Given the description of an element on the screen output the (x, y) to click on. 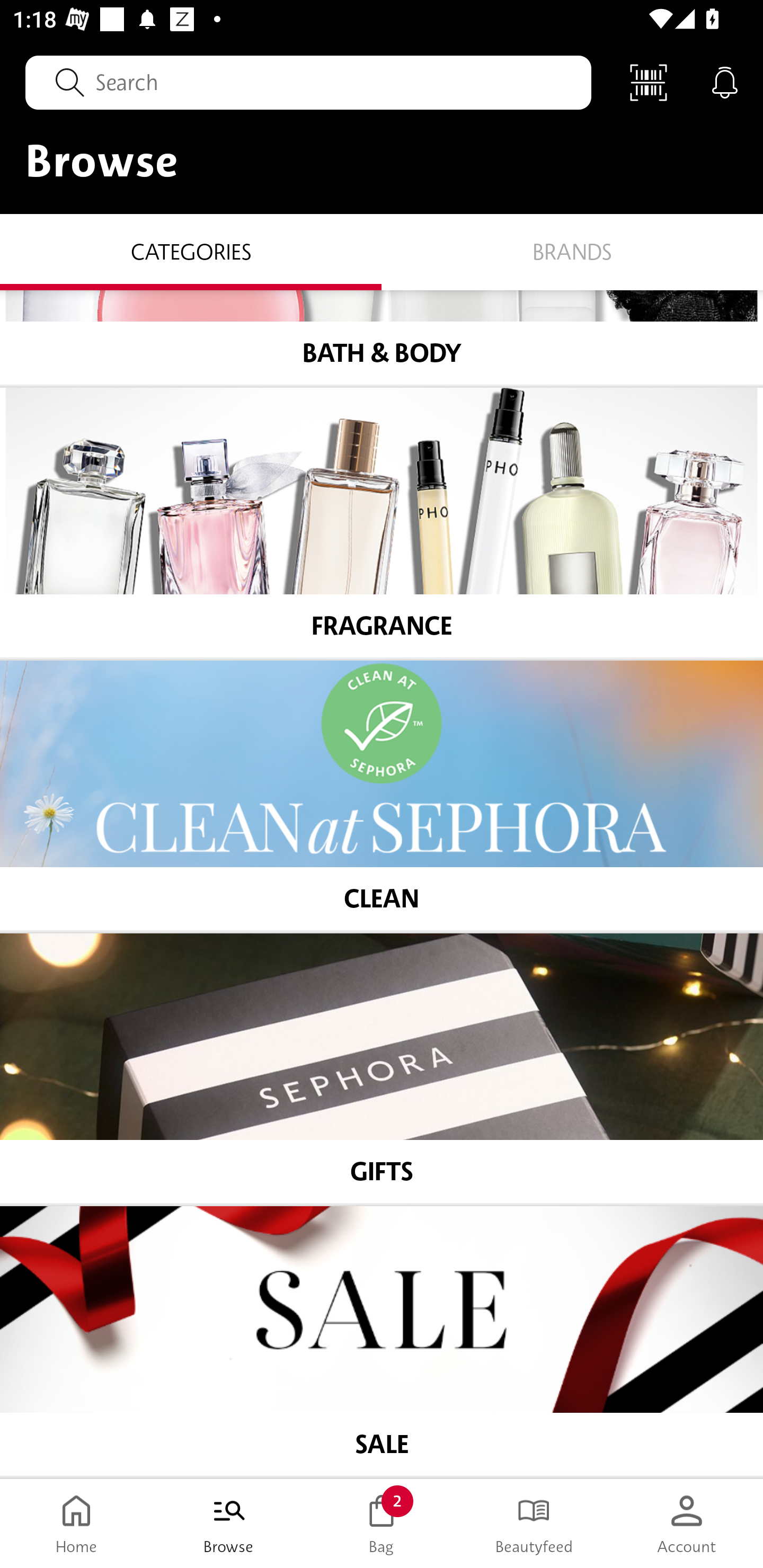
Scan Code (648, 81)
Notifications (724, 81)
Search (308, 81)
Brands BRANDS (572, 251)
FRAGRANCE (381, 522)
CLEAN (381, 795)
GIFTS (381, 1068)
SALE (381, 1341)
Home (76, 1523)
Bag 2 Bag (381, 1523)
Beautyfeed (533, 1523)
Account (686, 1523)
